Given the description of an element on the screen output the (x, y) to click on. 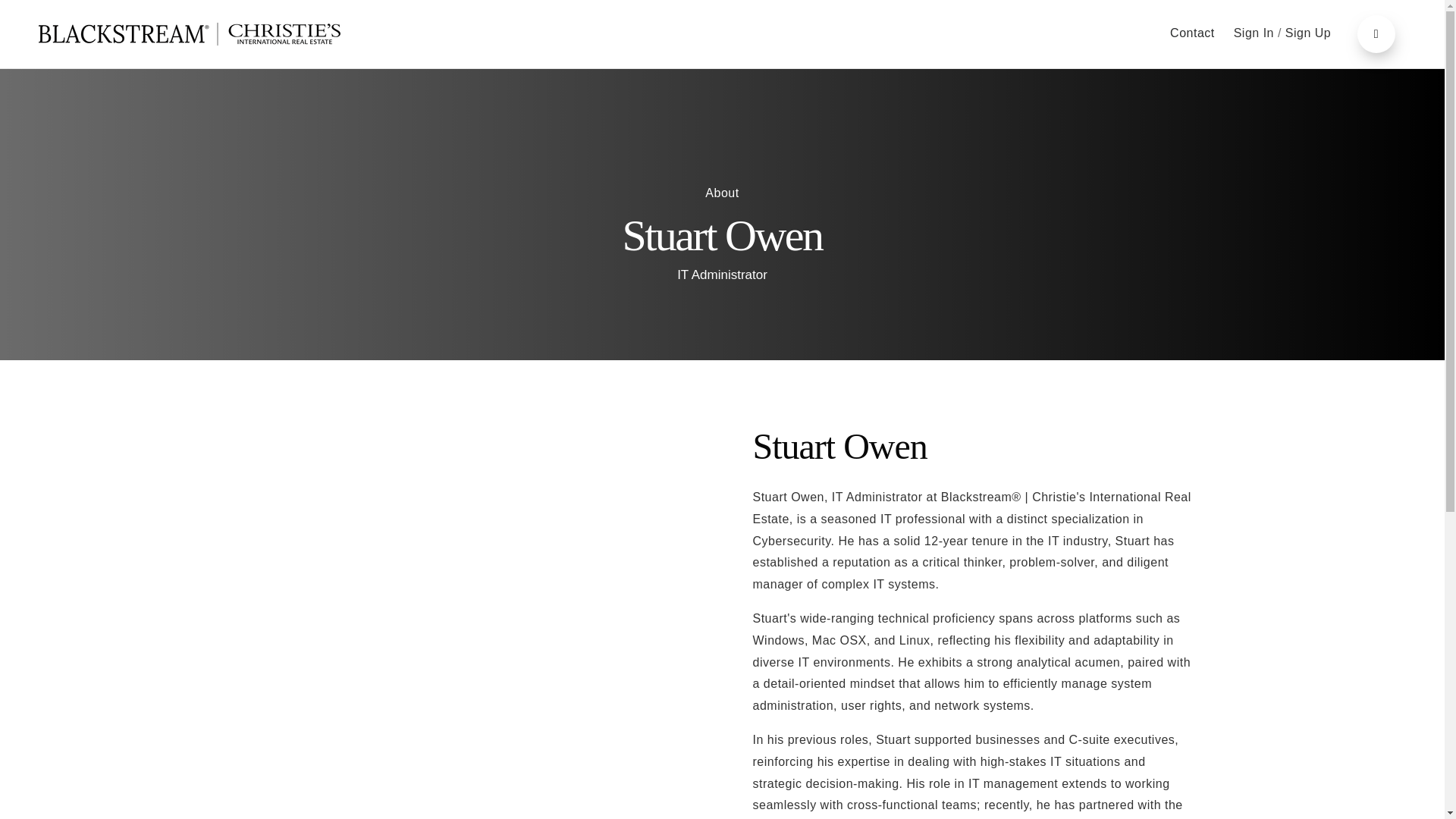
Sign Up (1307, 32)
Sign In (1255, 32)
Contact (1192, 33)
